Given the description of an element on the screen output the (x, y) to click on. 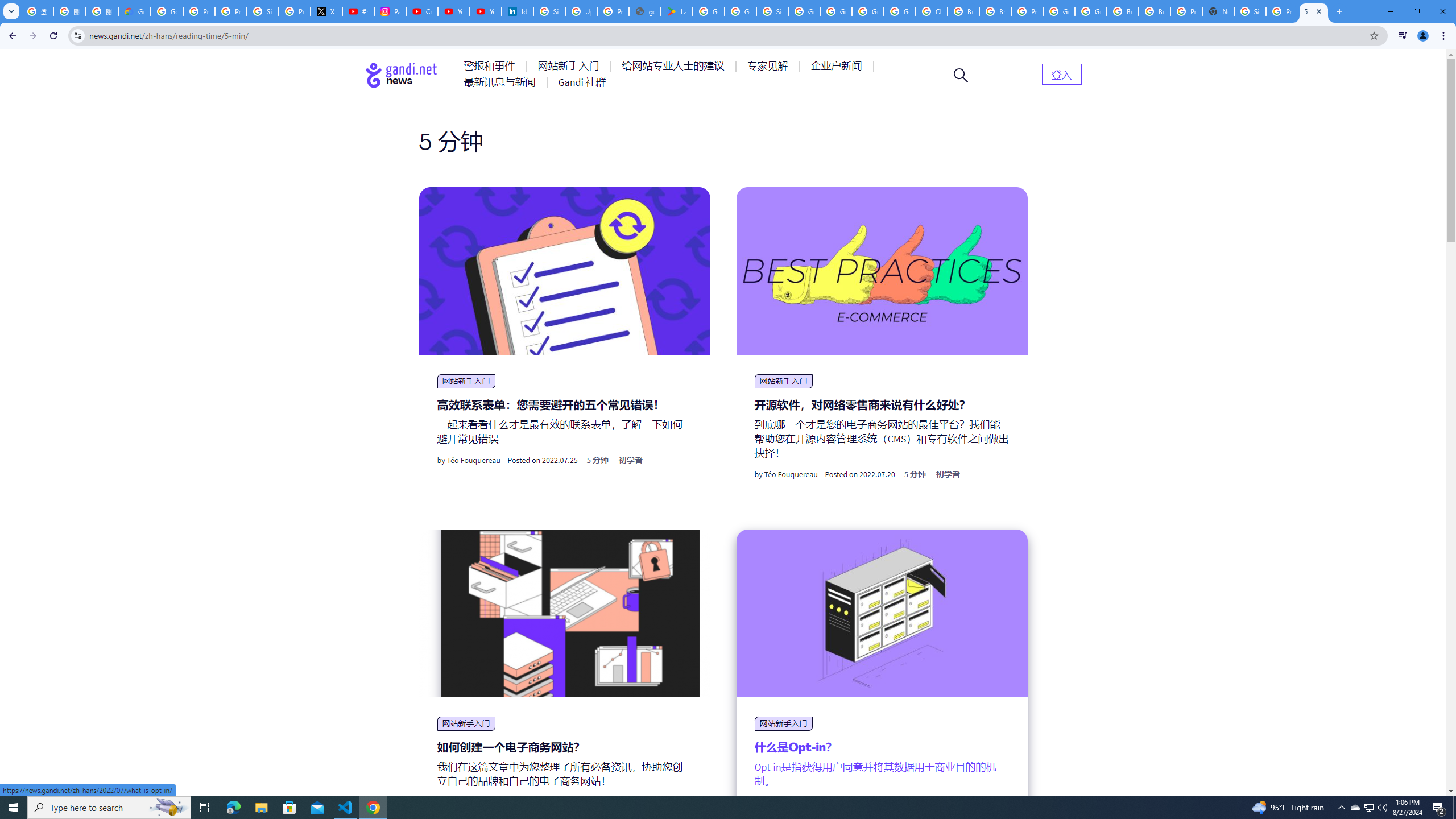
AutomationID: menu-item-77761 (492, 65)
#nbabasketballhighlights - YouTube (358, 11)
